Given the description of an element on the screen output the (x, y) to click on. 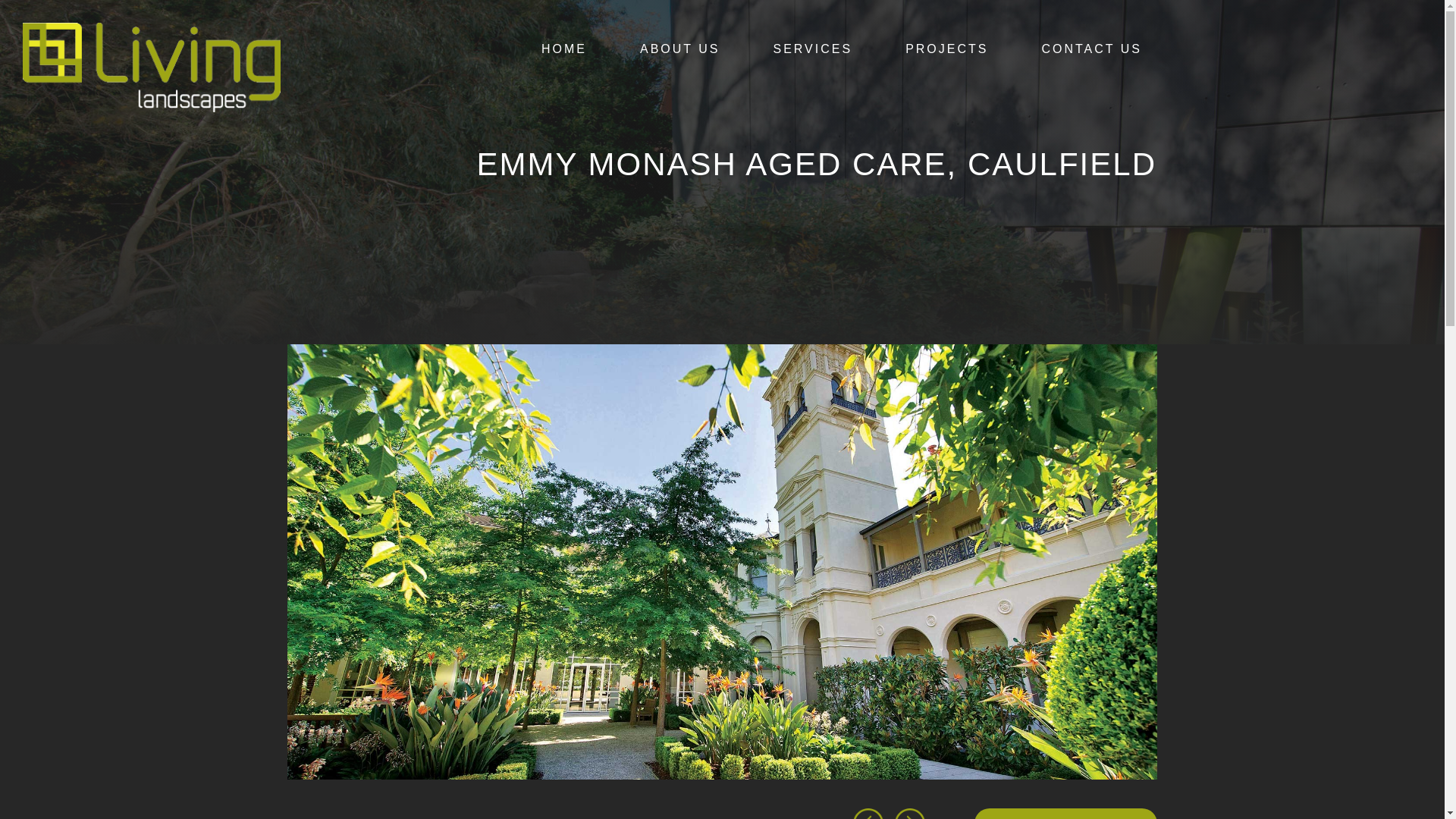
ABOUT US Element type: text (679, 49)
SERVICES Element type: text (813, 49)
HOME Element type: text (564, 49)
CONTACT US Element type: text (1091, 49)
PROJECTS Element type: text (946, 49)
Living Landscapes Element type: hover (151, 67)
